Given the description of an element on the screen output the (x, y) to click on. 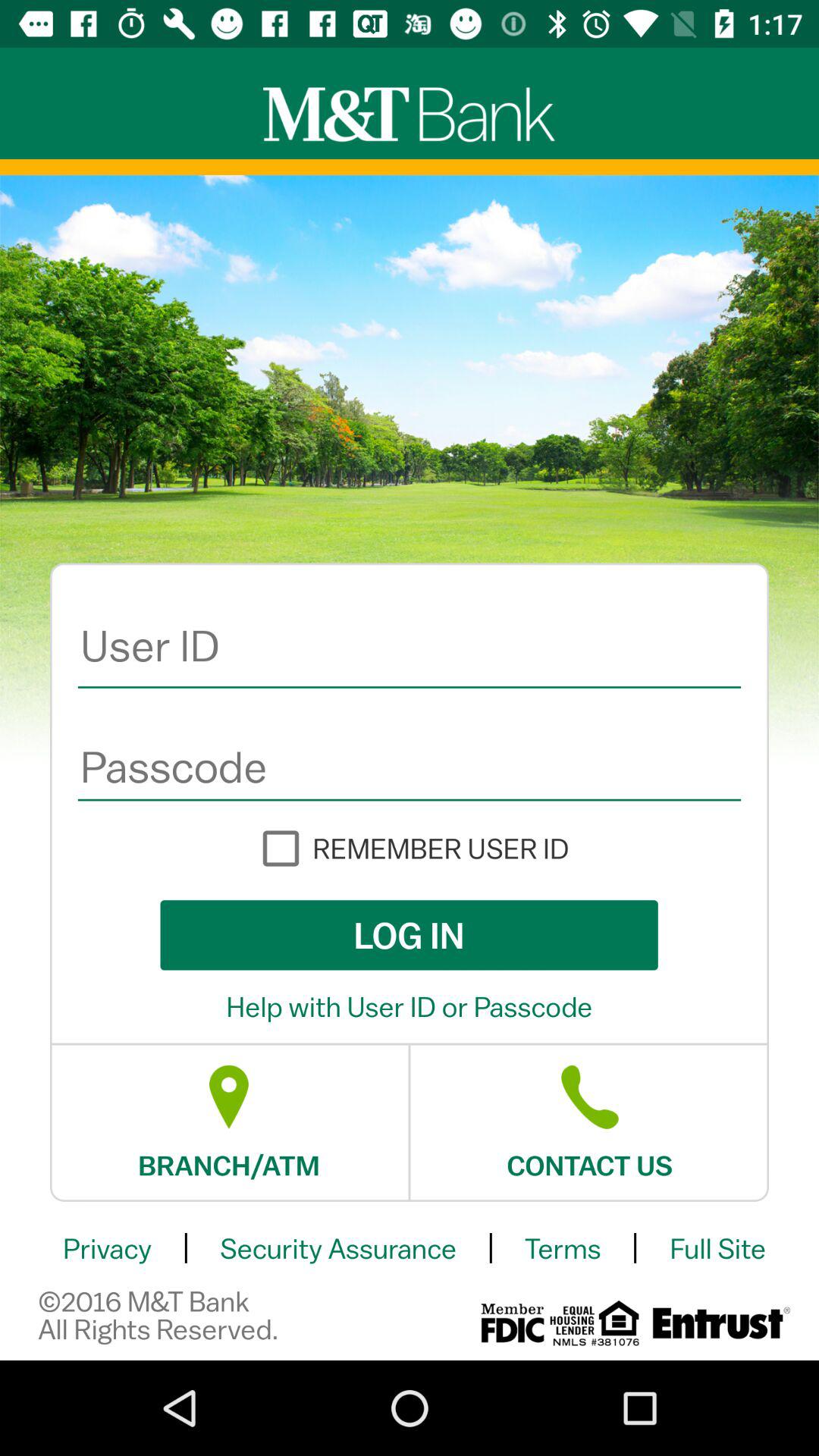
turn off the icon below terms icon (594, 1322)
